Given the description of an element on the screen output the (x, y) to click on. 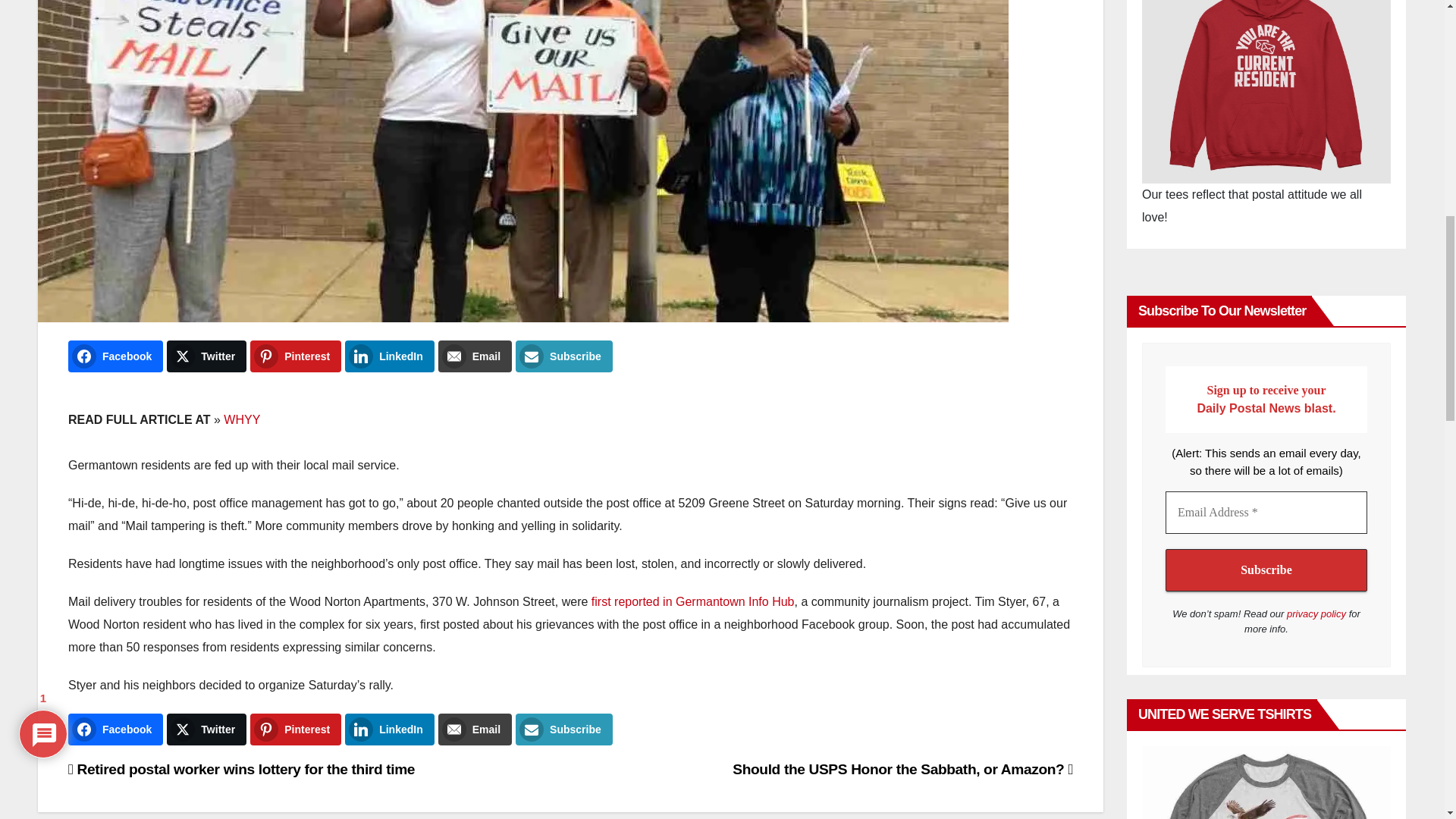
Subscribe (563, 356)
Email (475, 356)
LinkedIn (389, 356)
Subscribe (1266, 569)
Facebook (115, 729)
Pinterest (295, 356)
Pinterest (295, 729)
WHYY (242, 419)
Share on Twitter (206, 356)
Retired postal worker wins lottery for the third time (241, 769)
Twitter (206, 356)
Share on Facebook (115, 356)
LinkedIn (389, 729)
Email (475, 729)
